Given the description of an element on the screen output the (x, y) to click on. 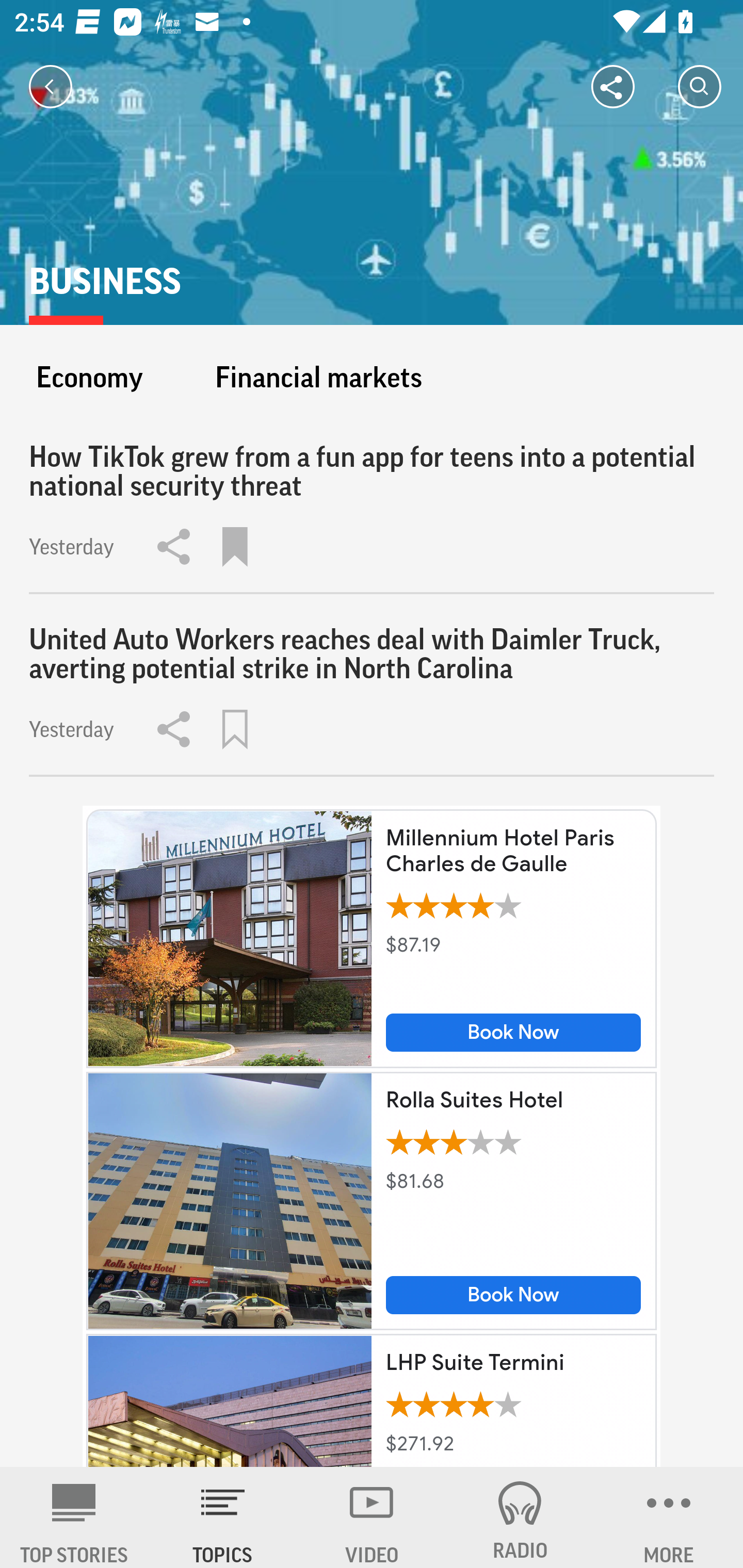
Economy (89, 376)
Financial markets (317, 376)
AP News TOP STORIES (74, 1517)
TOPICS (222, 1517)
VIDEO (371, 1517)
RADIO (519, 1517)
MORE (668, 1517)
